Given the description of an element on the screen output the (x, y) to click on. 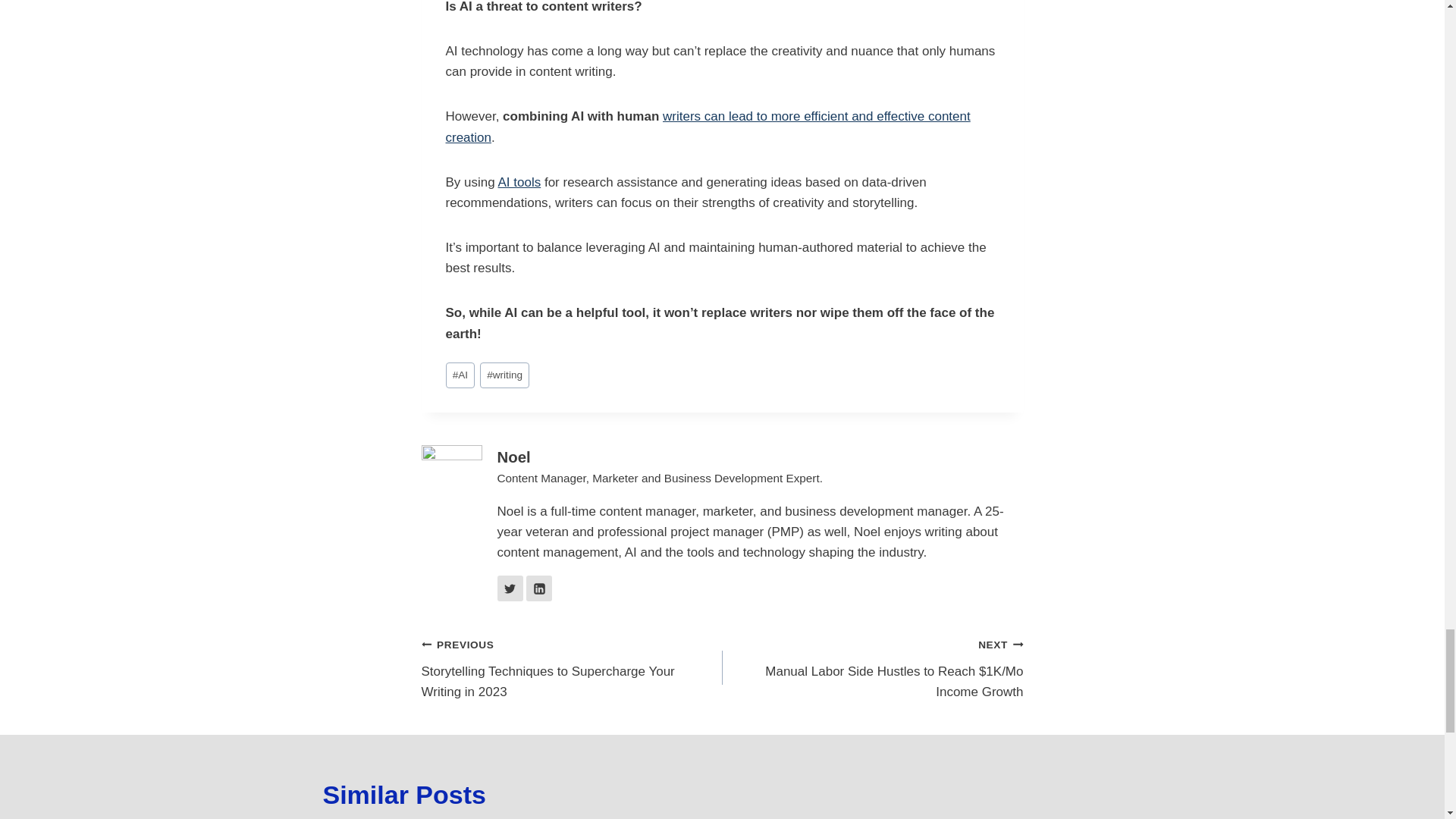
writing (504, 375)
Follow Noel on Twitter (509, 588)
AI (460, 375)
Follow Noel on Linkedin (538, 588)
Noel (514, 457)
AI tools (518, 182)
Posts by Noel (514, 457)
